Given the description of an element on the screen output the (x, y) to click on. 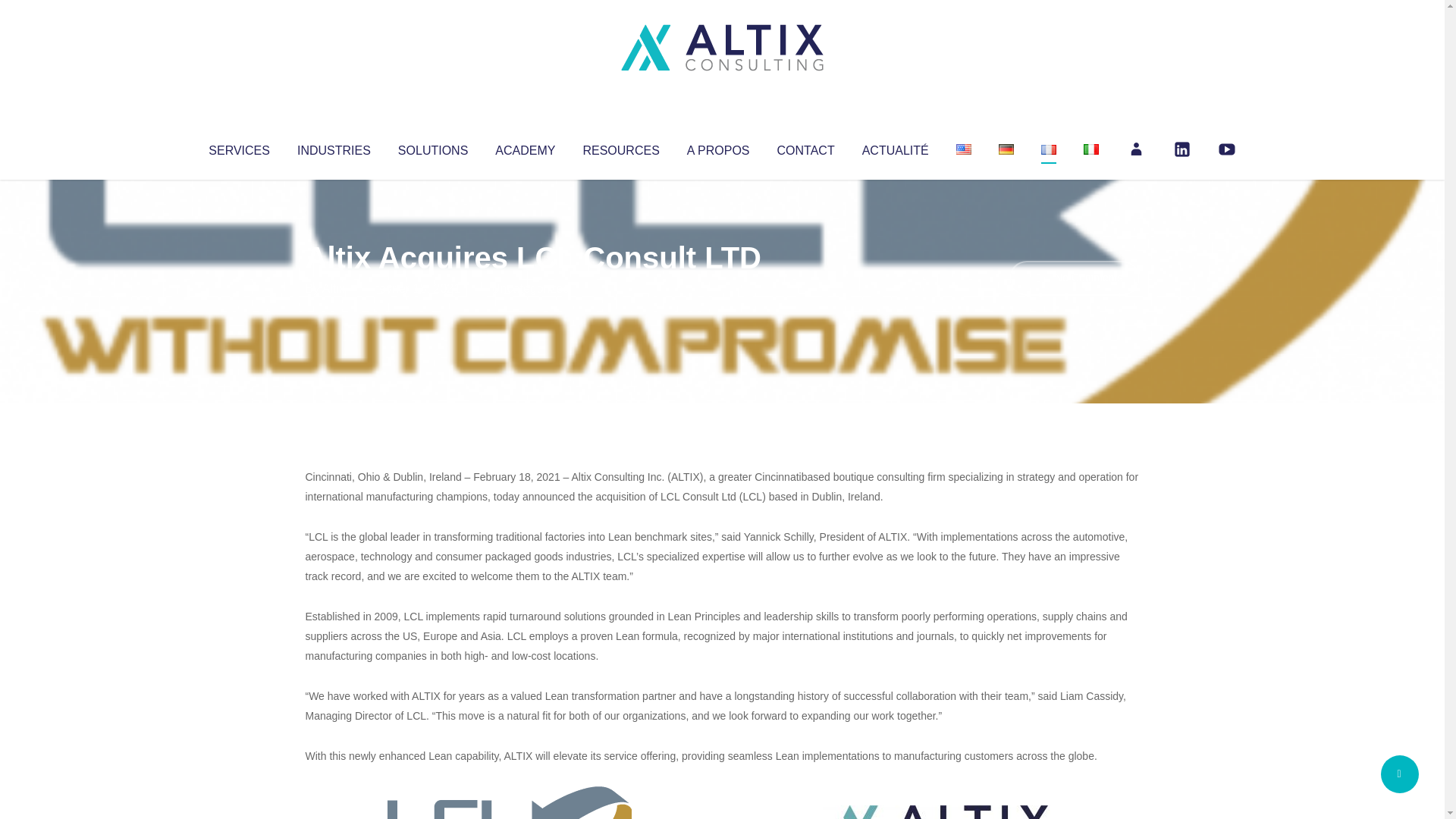
ACADEMY (524, 146)
Uncategorized (530, 287)
SERVICES (238, 146)
A PROPOS (718, 146)
RESOURCES (620, 146)
INDUSTRIES (334, 146)
No Comments (1073, 278)
Articles par Altix (333, 287)
SOLUTIONS (432, 146)
Altix (333, 287)
